Given the description of an element on the screen output the (x, y) to click on. 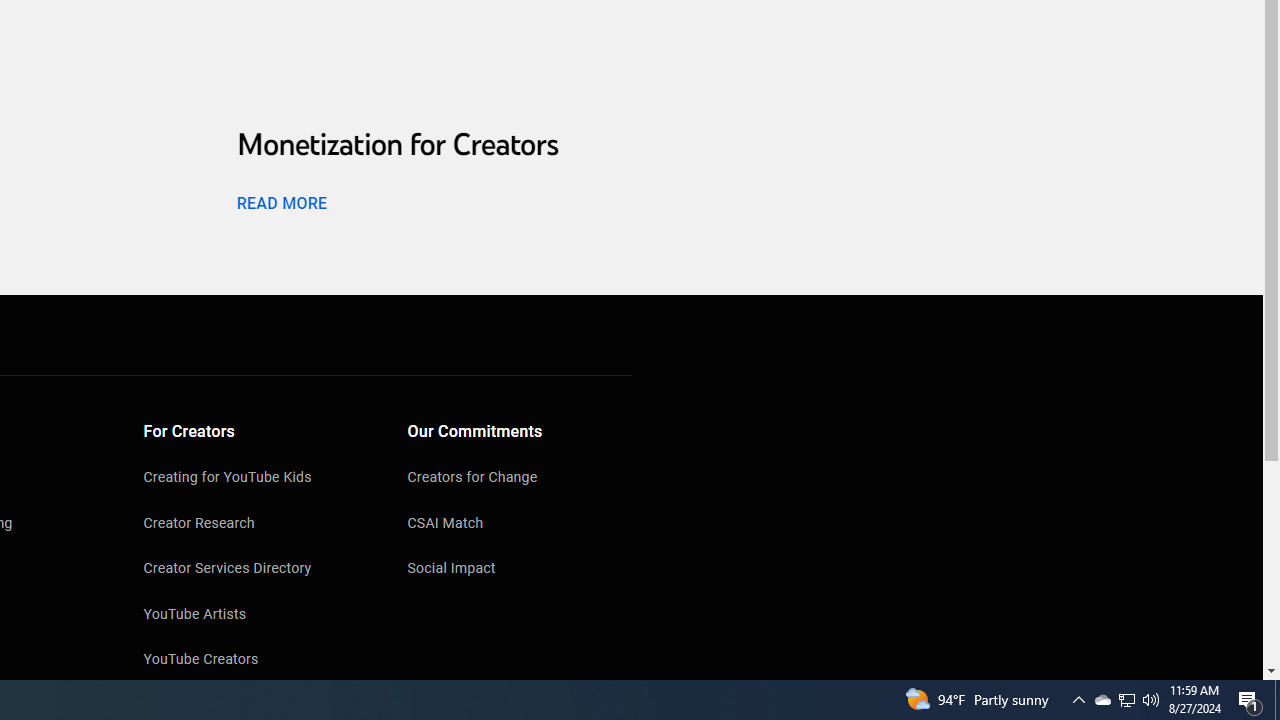
Creating for YouTube Kids (255, 479)
Creator Research (255, 524)
Creator Services Directory (255, 570)
YouTube Creators (255, 660)
Creators for Change (519, 479)
Social Impact (519, 570)
READ MORE (281, 202)
CSAI Match (519, 524)
YouTube Artists (255, 616)
